Given the description of an element on the screen output the (x, y) to click on. 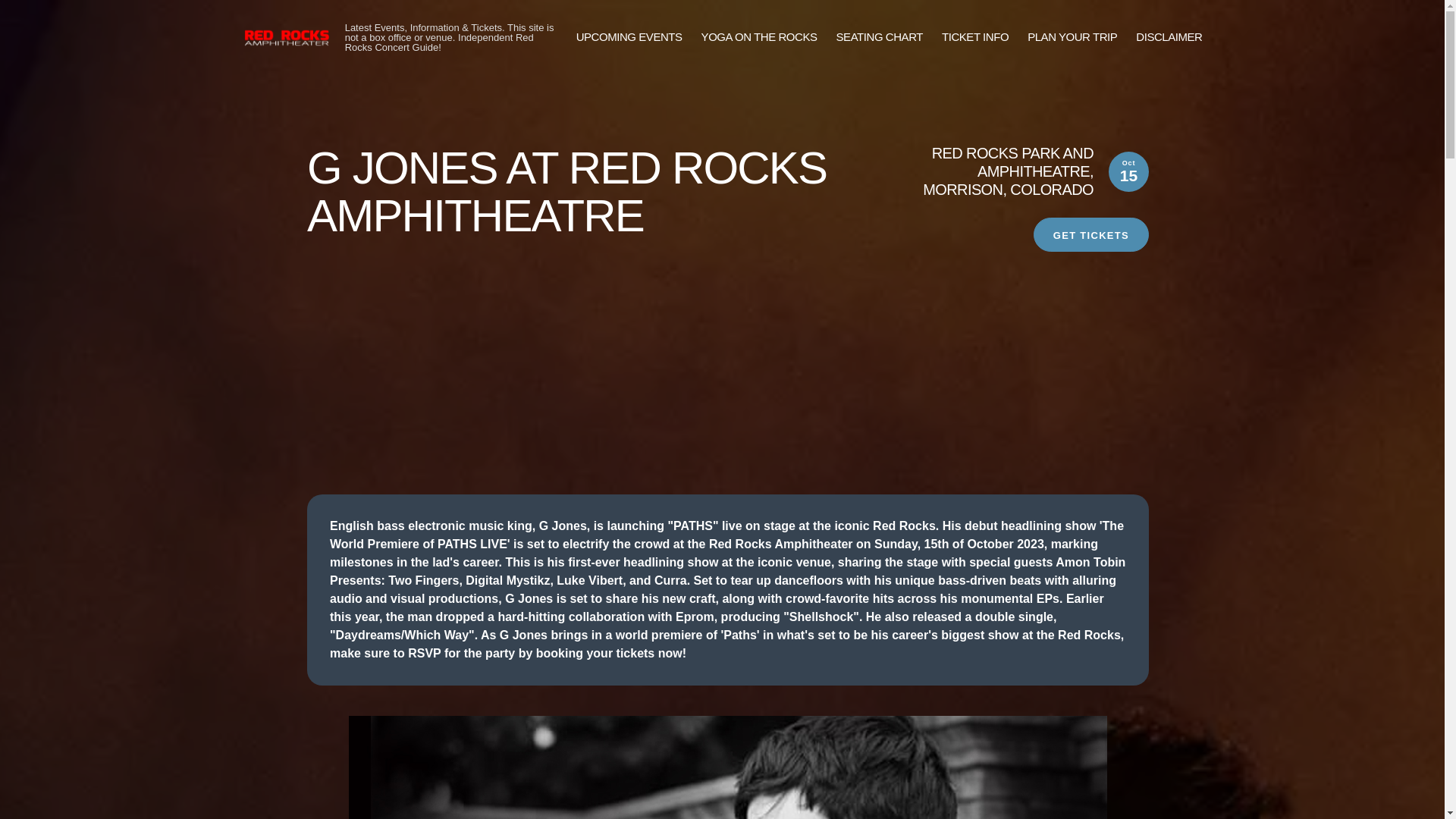
SEATING CHART (879, 36)
UPCOMING EVENTS (629, 36)
PLAN YOUR TRIP (1071, 36)
YOGA ON THE ROCKS (758, 36)
DISCLAIMER (1168, 36)
GET TICKETS (1090, 234)
G Jones at Red Rocks Amphitheater (727, 767)
TICKET INFO (975, 36)
